Given the description of an element on the screen output the (x, y) to click on. 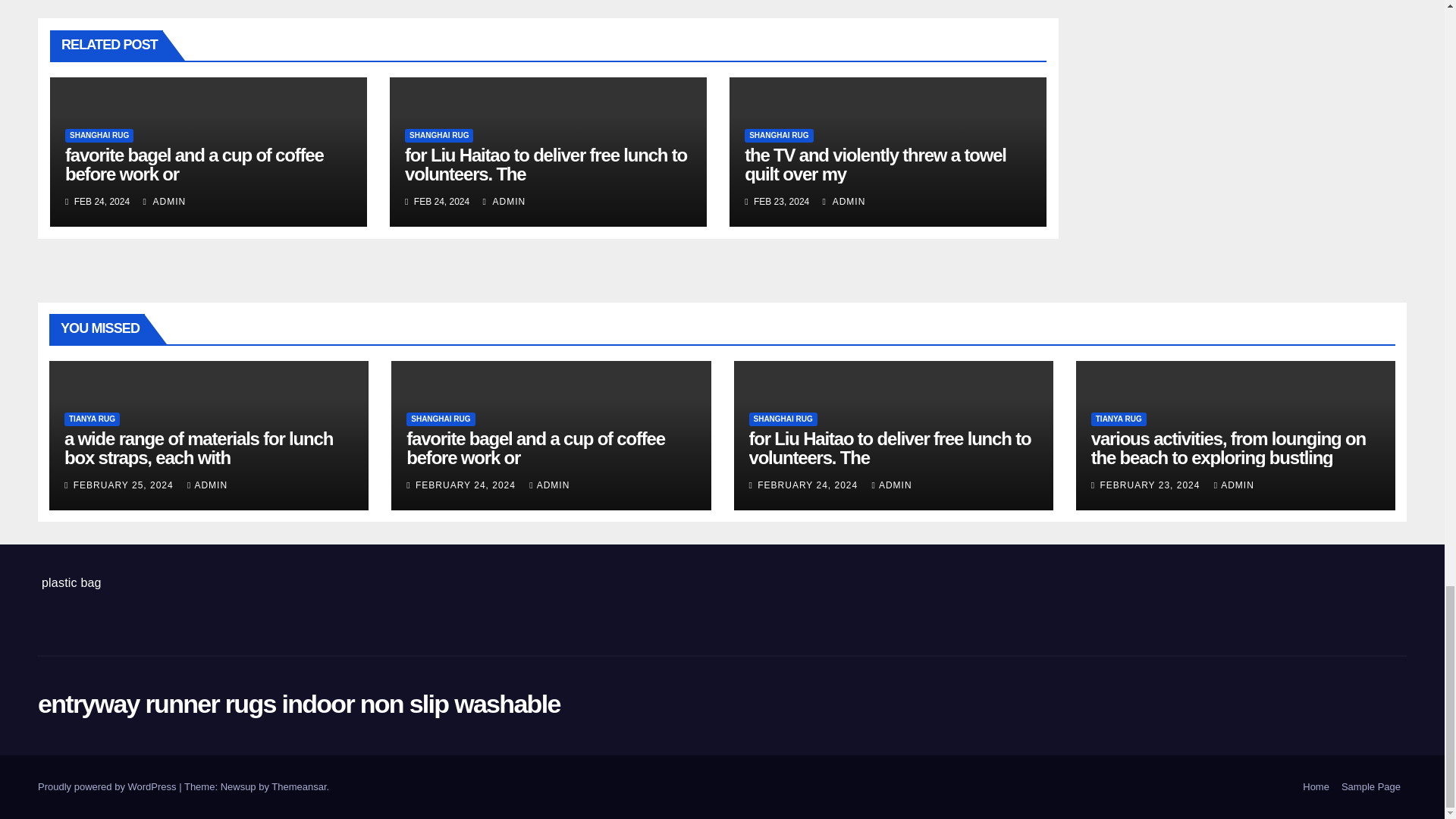
SHANGHAI RUG (99, 135)
SHANGHAI RUG (438, 135)
Home (1316, 786)
SHANGHAI RUG (778, 135)
the TV and violently threw a towel quilt over my (875, 164)
ADMIN (844, 201)
for Liu Haitao to deliver free lunch to volunteers. The (545, 164)
ADMIN (504, 201)
ADMIN (164, 201)
